Given the description of an element on the screen output the (x, y) to click on. 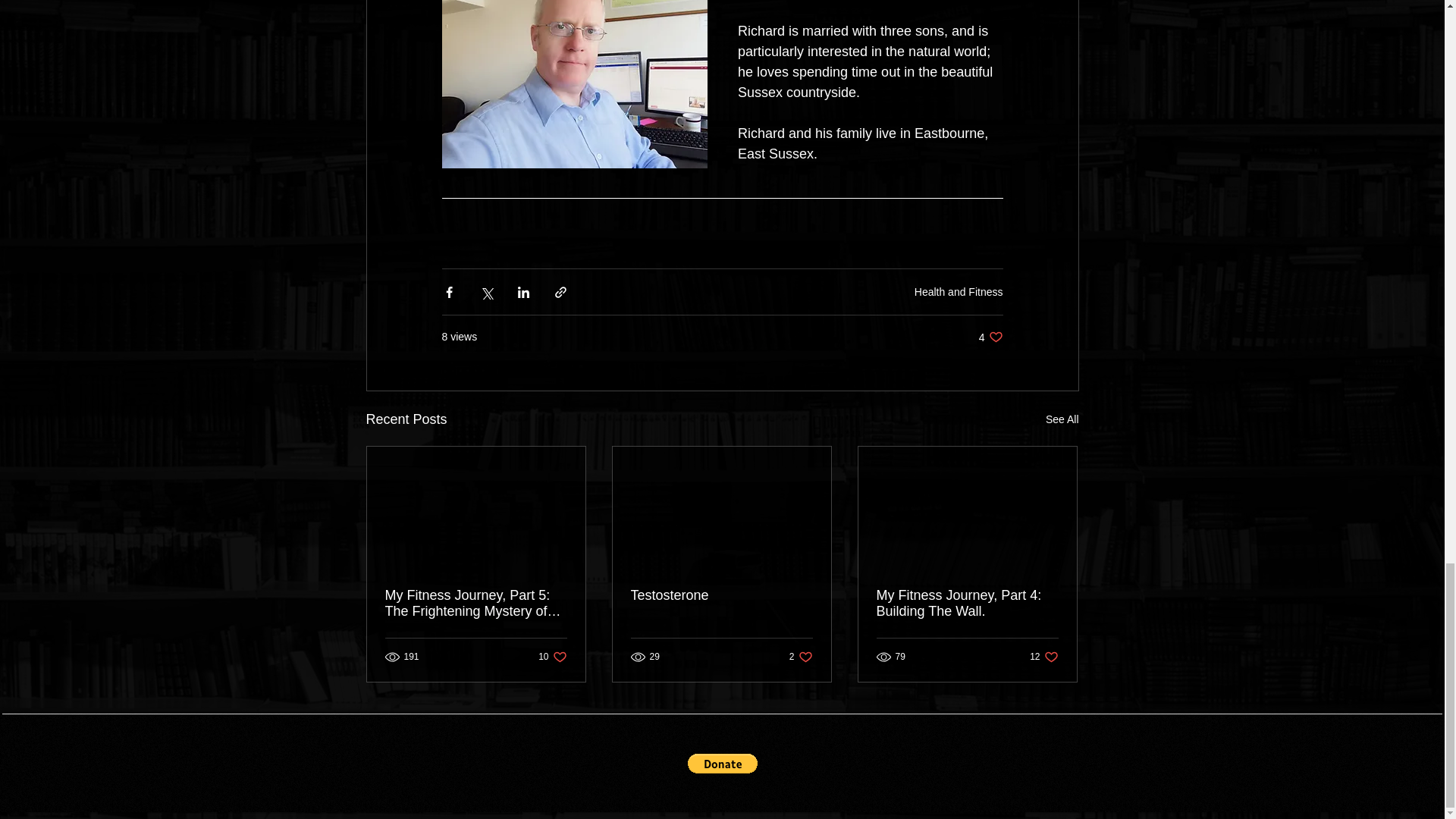
See All (552, 657)
Health and Fitness (1061, 419)
My Fitness Journey, Part 4: Building The Wall. (958, 291)
Testosterone (967, 603)
